Given the description of an element on the screen output the (x, y) to click on. 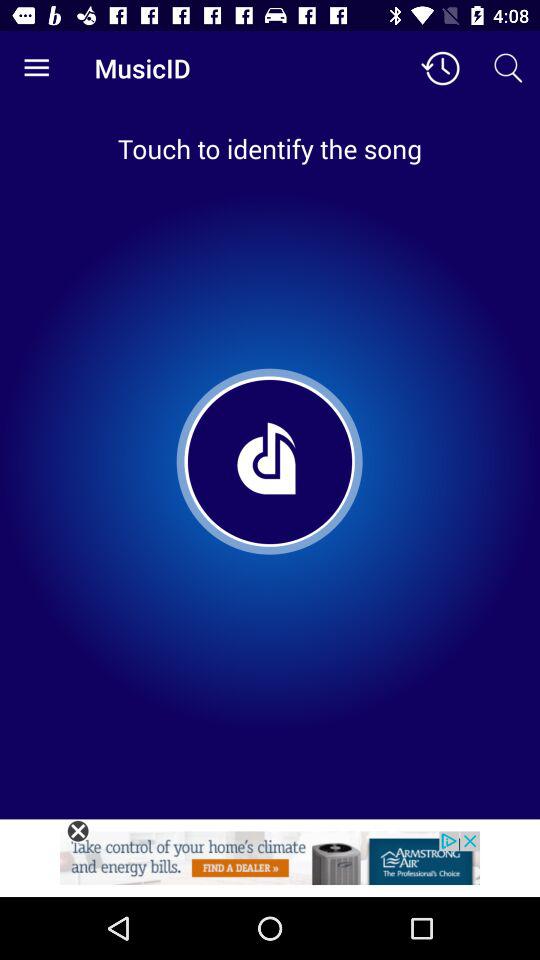
close this advertisement (78, 831)
